Given the description of an element on the screen output the (x, y) to click on. 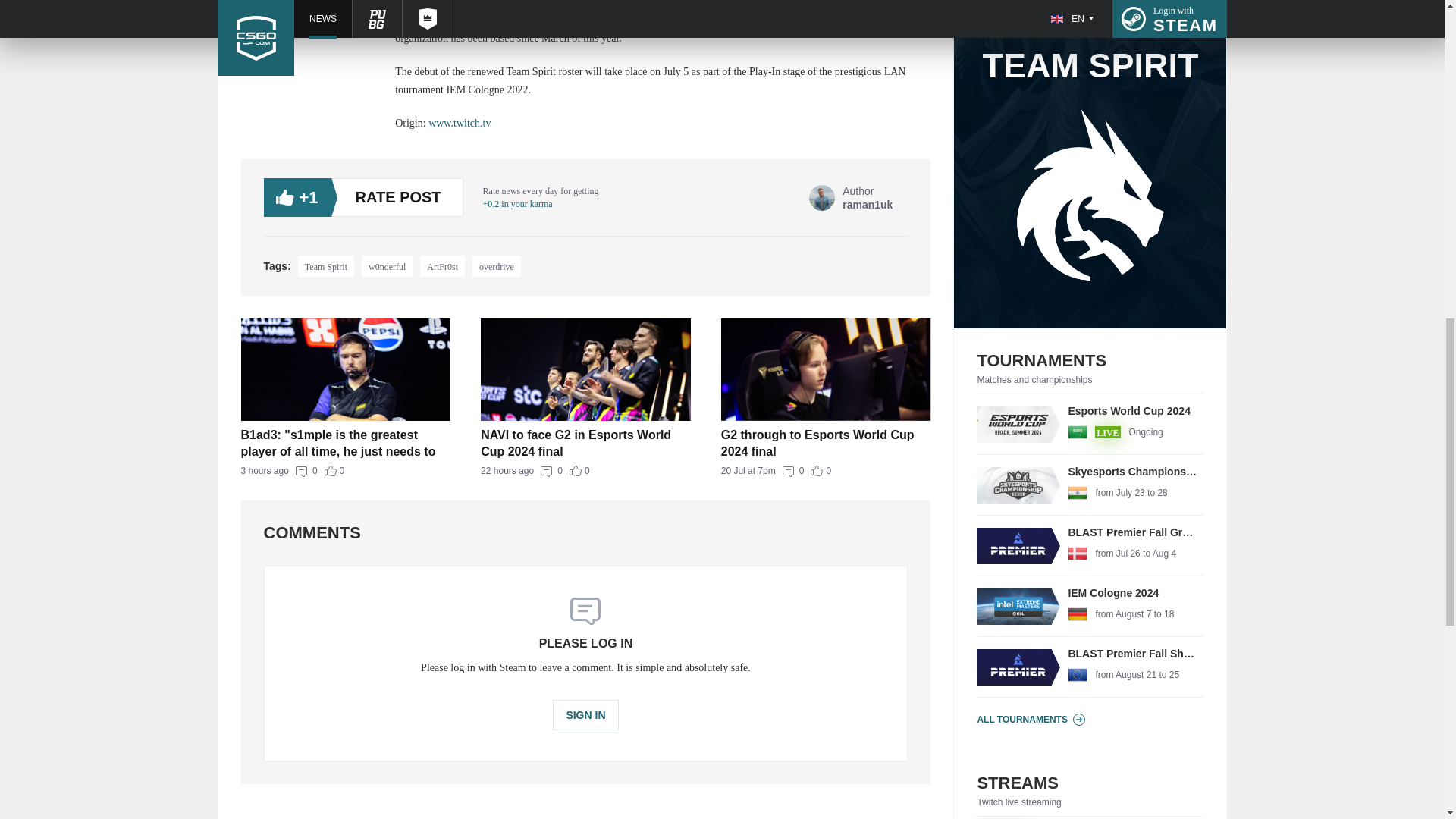
ArtFr0st (442, 265)
overdrive (825, 471)
Team Spirit (496, 265)
SIGN IN (325, 265)
NAVI to face G2 in Esports World Cup 2024 final (585, 715)
G2 through to Esports World Cup 2024 final (585, 471)
www.twitch.tv (346, 471)
w0nderful (585, 442)
